Given the description of an element on the screen output the (x, y) to click on. 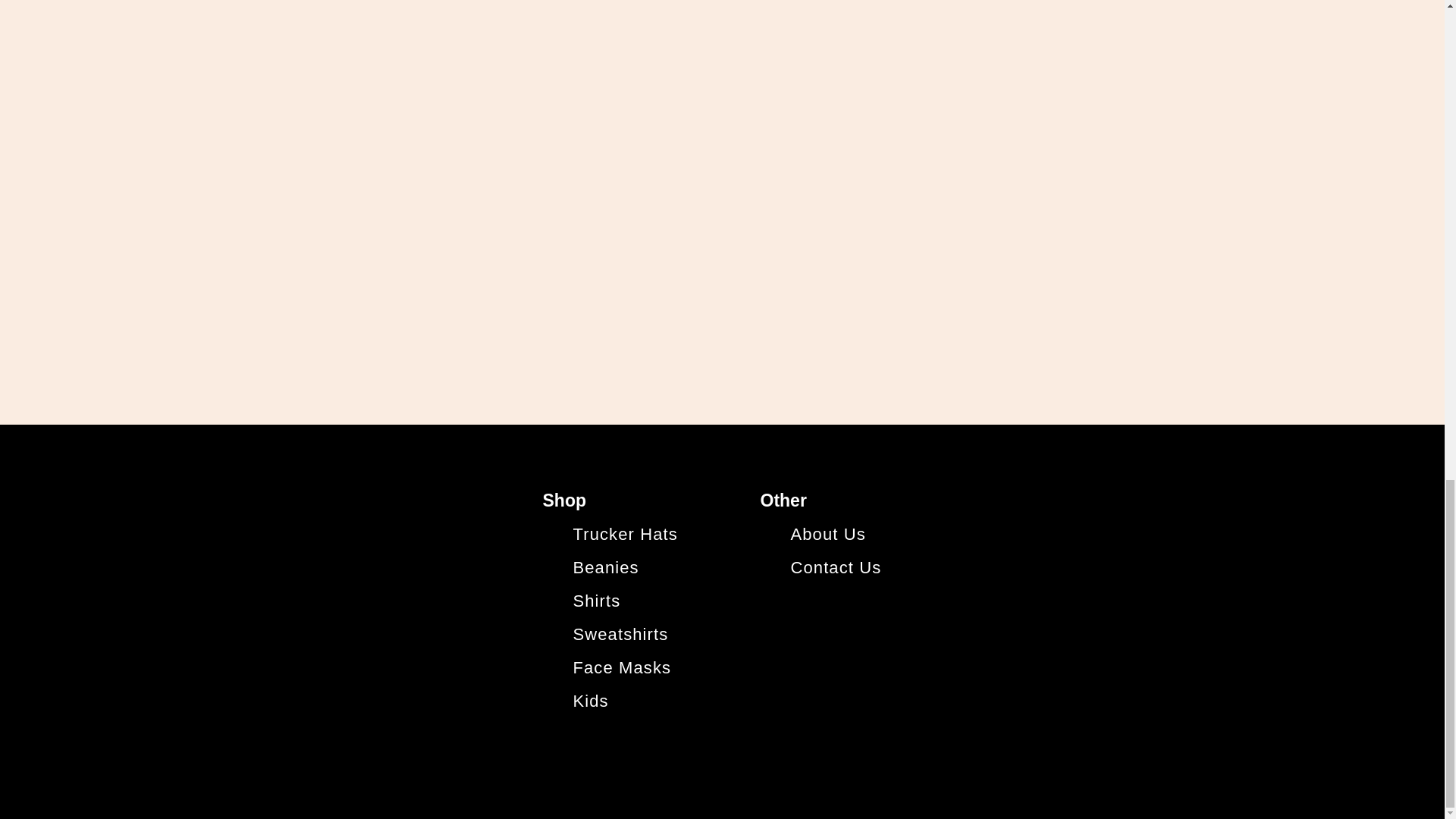
About Us  (830, 533)
Kids (590, 700)
Trucker Hats  (628, 533)
Contact Us (835, 567)
Beanies (606, 567)
Sweatshirts (620, 633)
Shop (564, 500)
Face Masks (622, 667)
Shirts (597, 600)
